Given the description of an element on the screen output the (x, y) to click on. 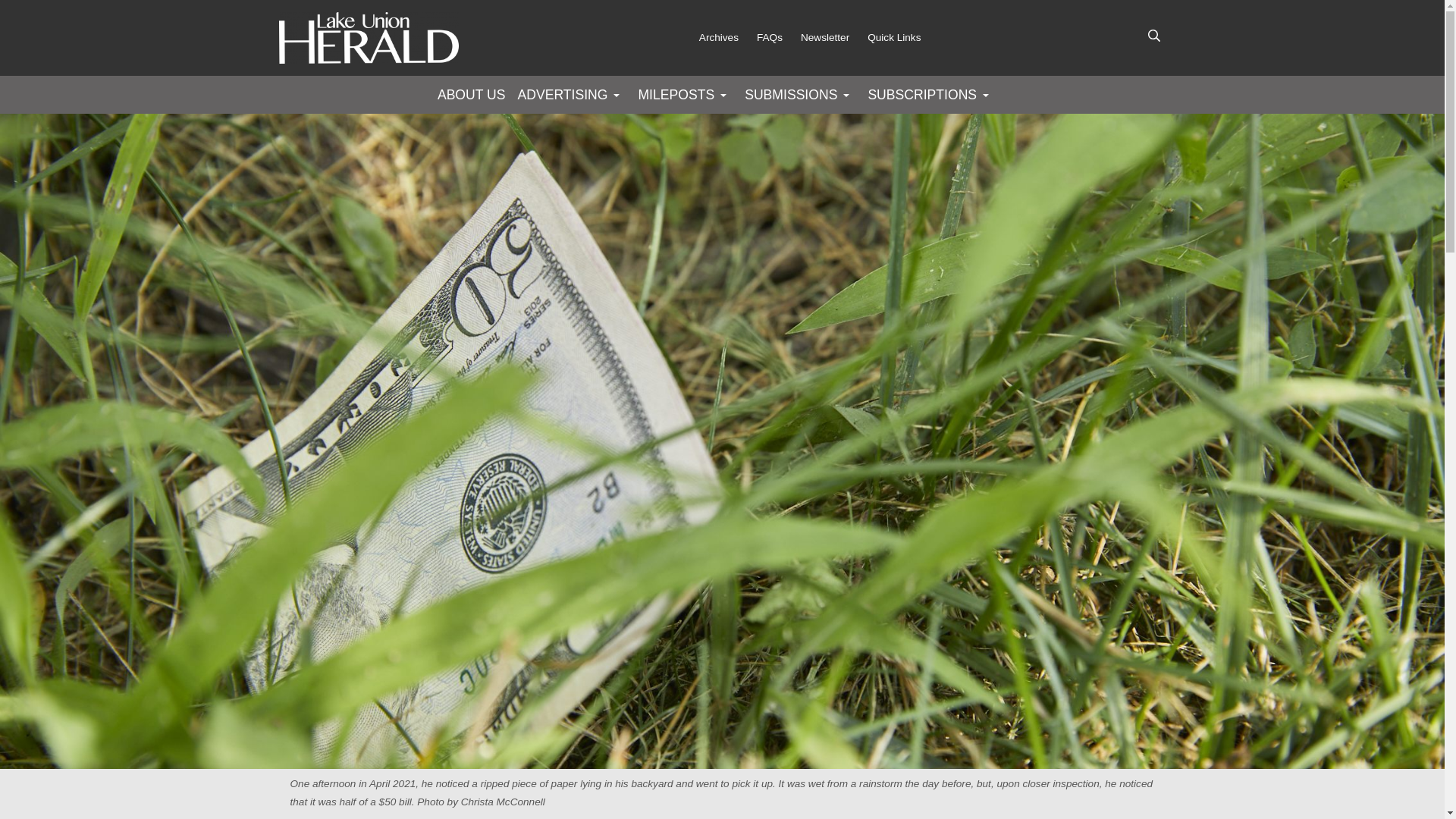
SUBMISSIONS (800, 94)
FAQs (778, 37)
Archives (727, 37)
ABOUT US (471, 94)
Newsletter (833, 37)
SUBSCRIPTIONS (930, 94)
MILEPOSTS (684, 94)
ADVERTISING (572, 94)
Quick Links (903, 37)
